Given the description of an element on the screen output the (x, y) to click on. 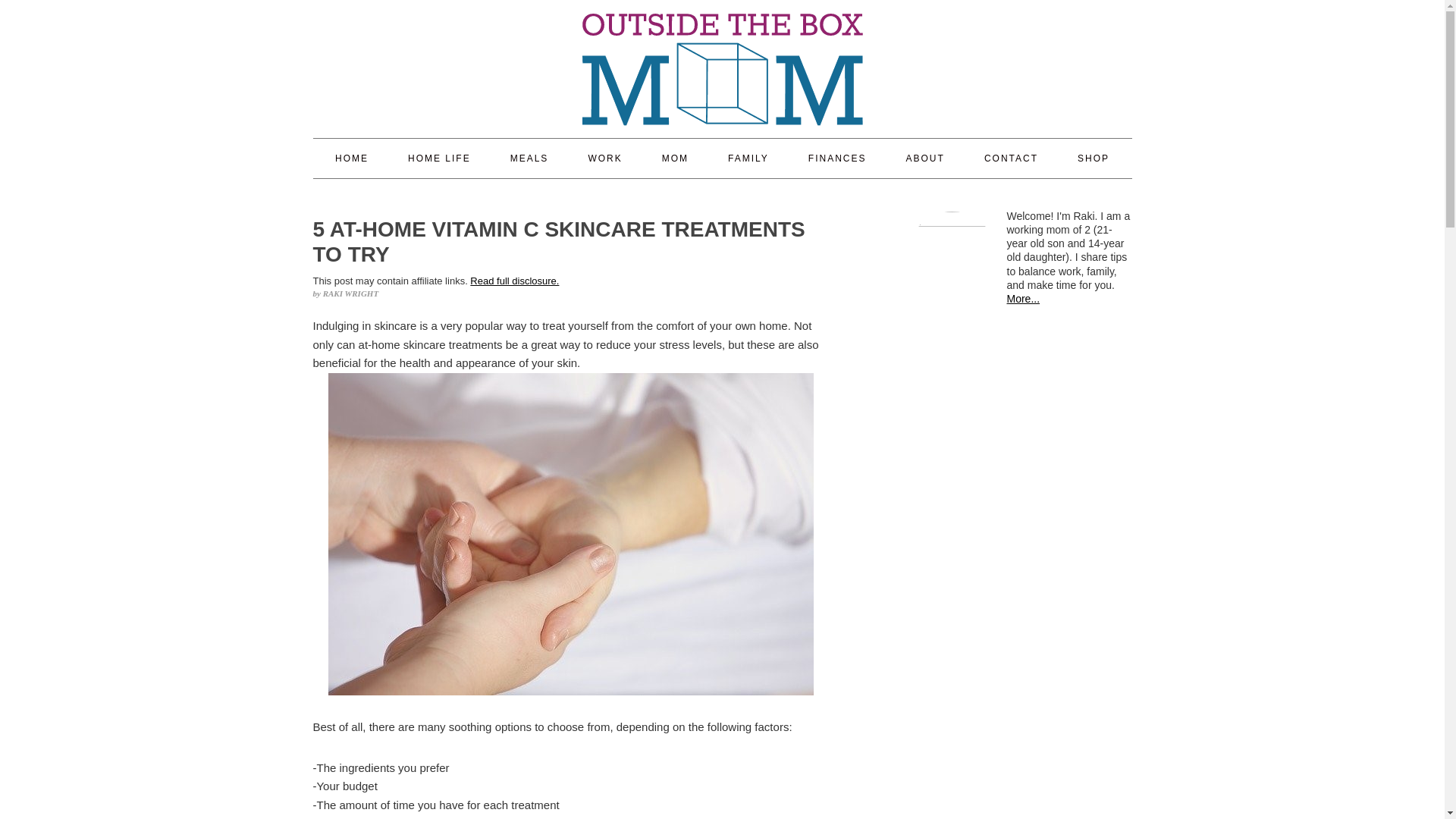
MEALS (529, 158)
FAMILY (748, 158)
WORK (604, 158)
HOME LIFE (438, 158)
HOME (351, 158)
MOM (675, 158)
